Given the description of an element on the screen output the (x, y) to click on. 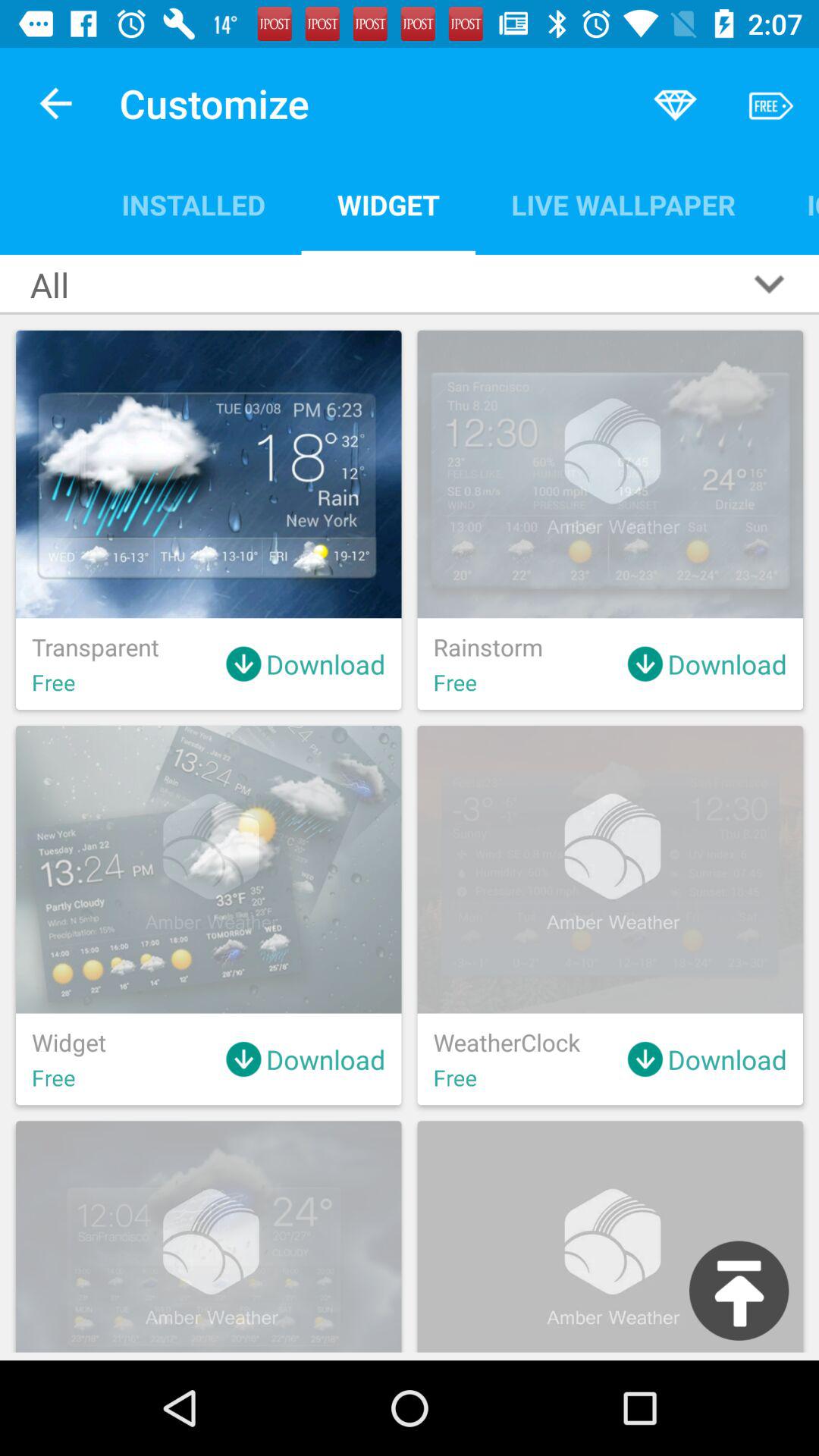
choose item next to live wallpaper icon (795, 204)
